Given the description of an element on the screen output the (x, y) to click on. 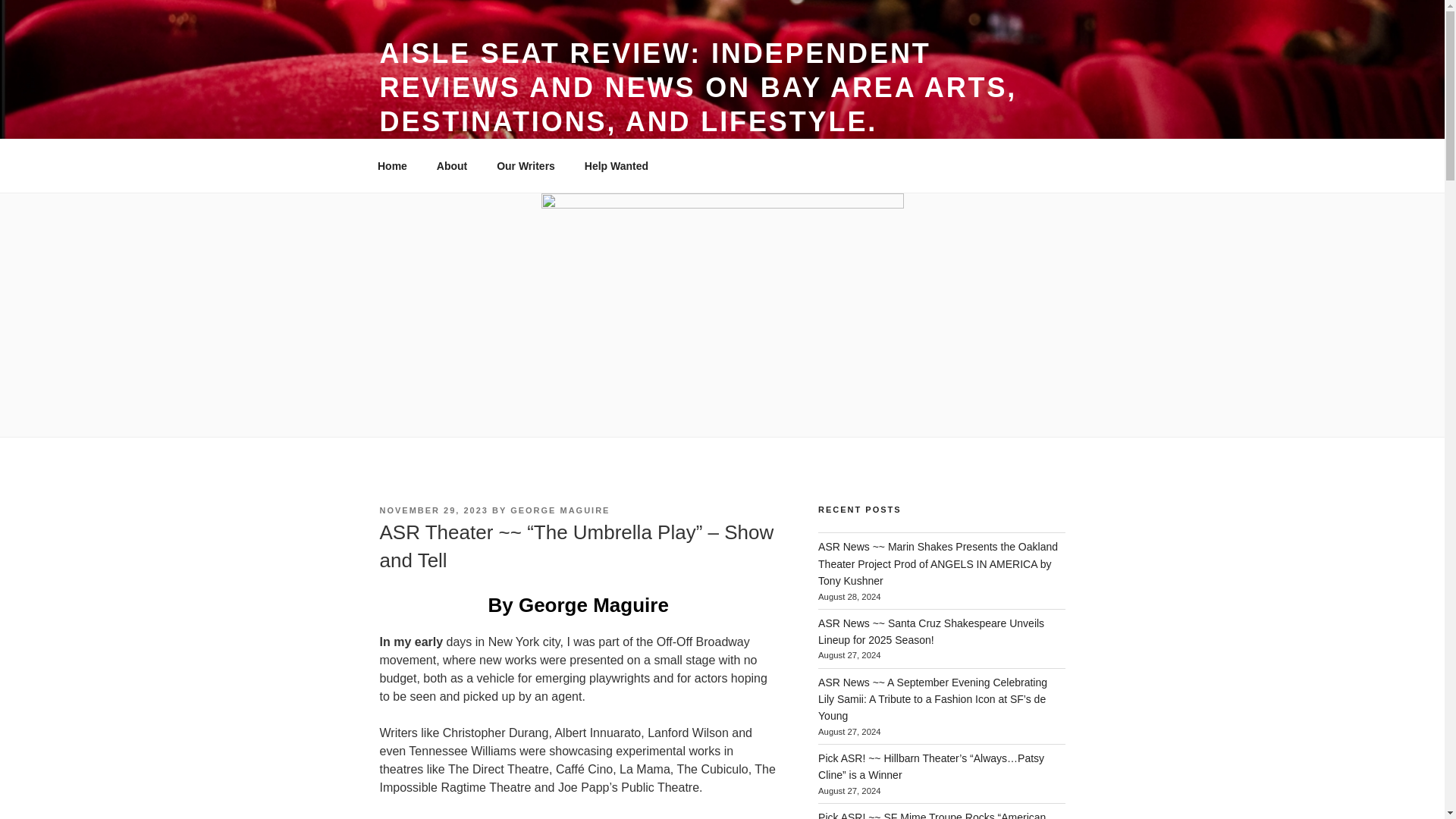
About (451, 165)
Our Writers (526, 165)
Home (392, 165)
GEORGE MAGUIRE (560, 510)
NOVEMBER 29, 2023 (432, 510)
Help Wanted (615, 165)
